Given the description of an element on the screen output the (x, y) to click on. 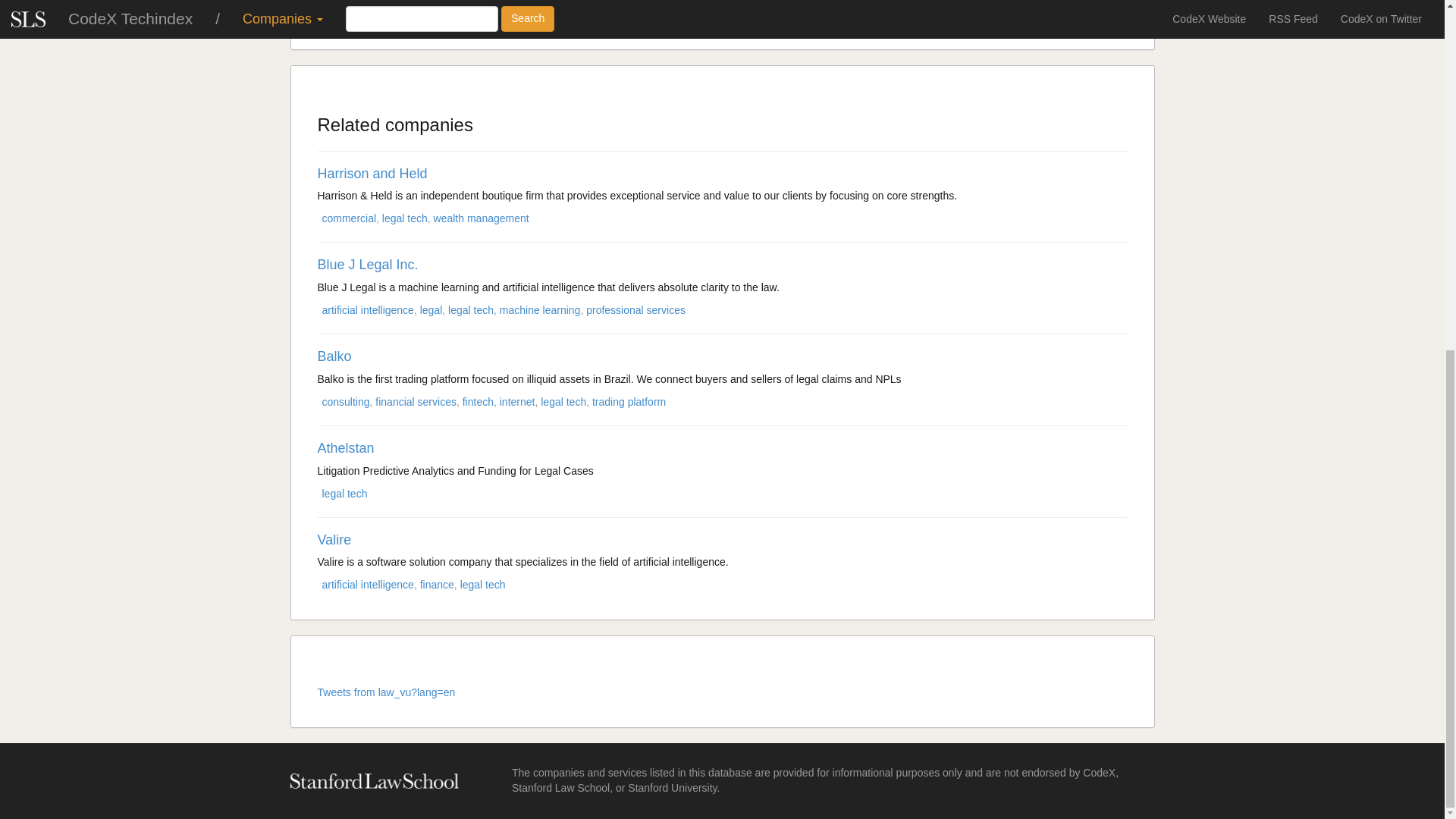
legal tech (404, 218)
machine learning (539, 309)
Balko (333, 355)
professional services (635, 309)
Blue J Legal Inc. (367, 264)
consulting (345, 401)
Harrison and Held (371, 173)
commercial (348, 218)
wealth management (481, 218)
artificial intelligence (367, 309)
suggesting an update. (793, 17)
legal tech (470, 309)
legal (431, 309)
